Given the description of an element on the screen output the (x, y) to click on. 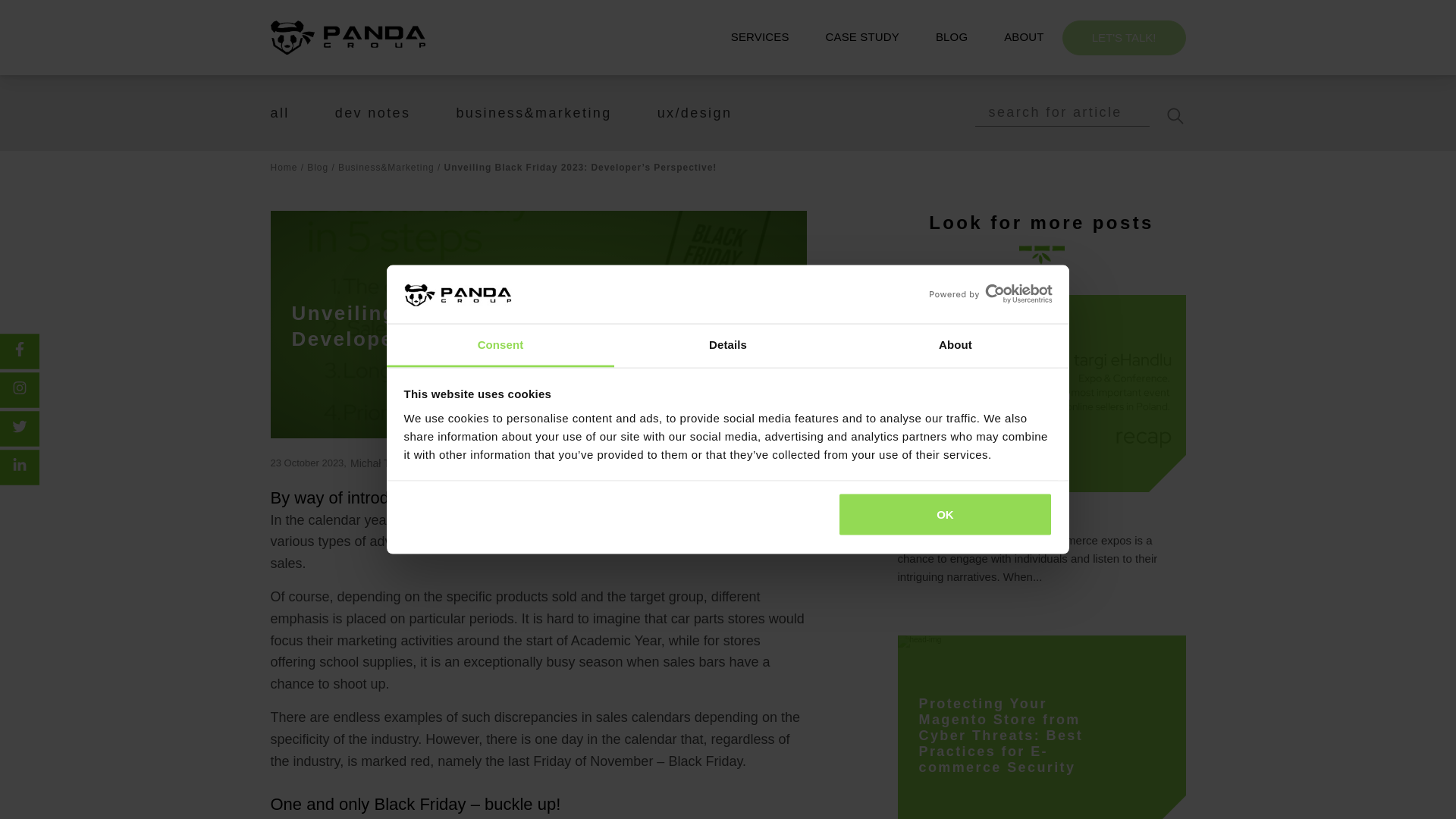
Consent (500, 344)
Details (727, 344)
About (954, 344)
